Given the description of an element on the screen output the (x, y) to click on. 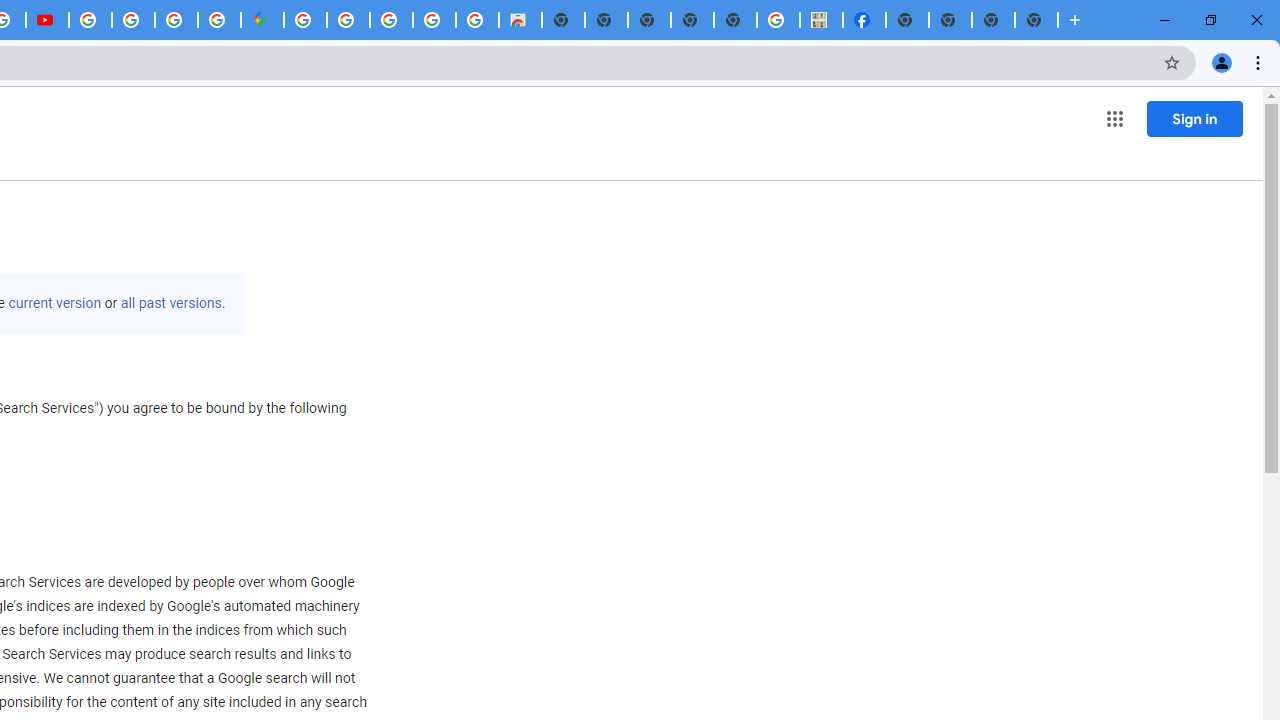
New Tab (907, 20)
MILEY CYRUS. (821, 20)
Miley Cyrus | Facebook (864, 20)
Chrome Web Store - Shopping (520, 20)
current version (54, 303)
